Given the description of an element on the screen output the (x, y) to click on. 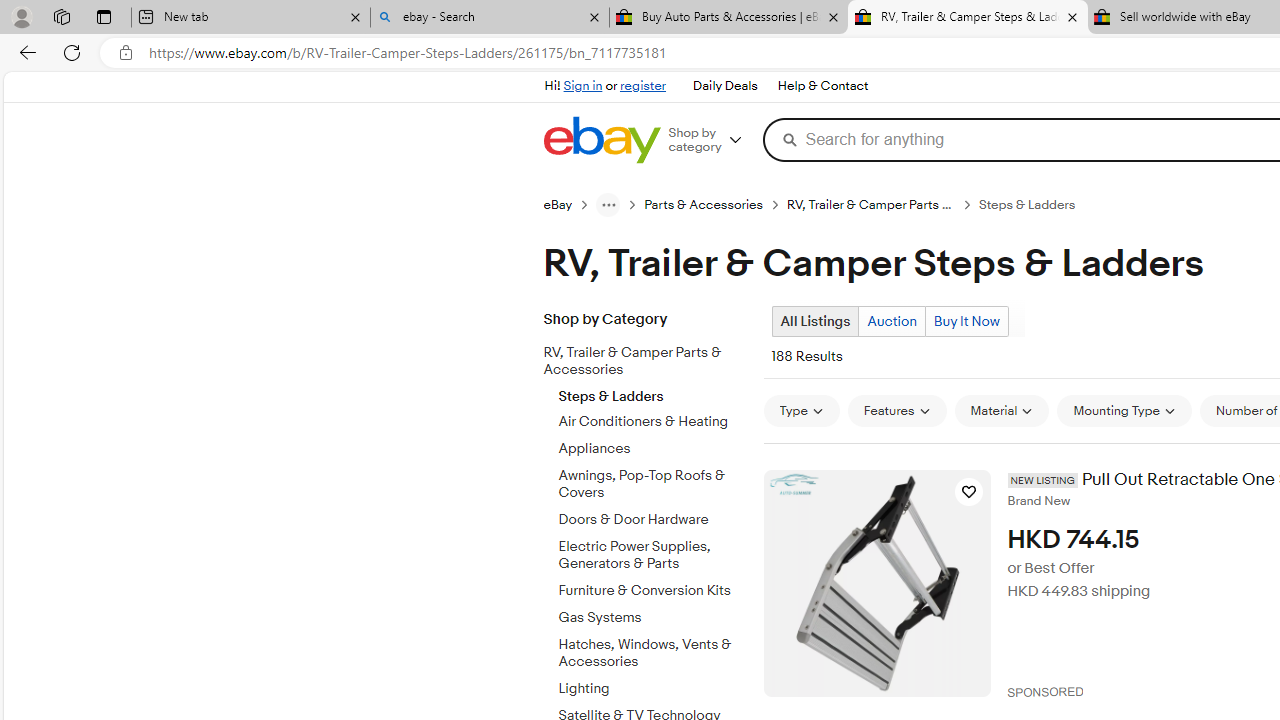
RV, Trailer & Camper Parts & Accessories (653, 358)
Furniture & Conversion Kits (653, 587)
Type (800, 410)
eBay (557, 205)
Doors & Door Hardware (653, 516)
eBay Home (601, 139)
Electric Power Supplies, Generators & Parts (653, 555)
Material (1001, 410)
RV, Trailer & Camper Parts & Accessories (637, 362)
Lighting (653, 685)
Type (800, 410)
Furniture & Conversion Kits (653, 591)
Hatches, Windows, Vents & Accessories (653, 653)
Features (897, 410)
Auction (891, 321)
